Given the description of an element on the screen output the (x, y) to click on. 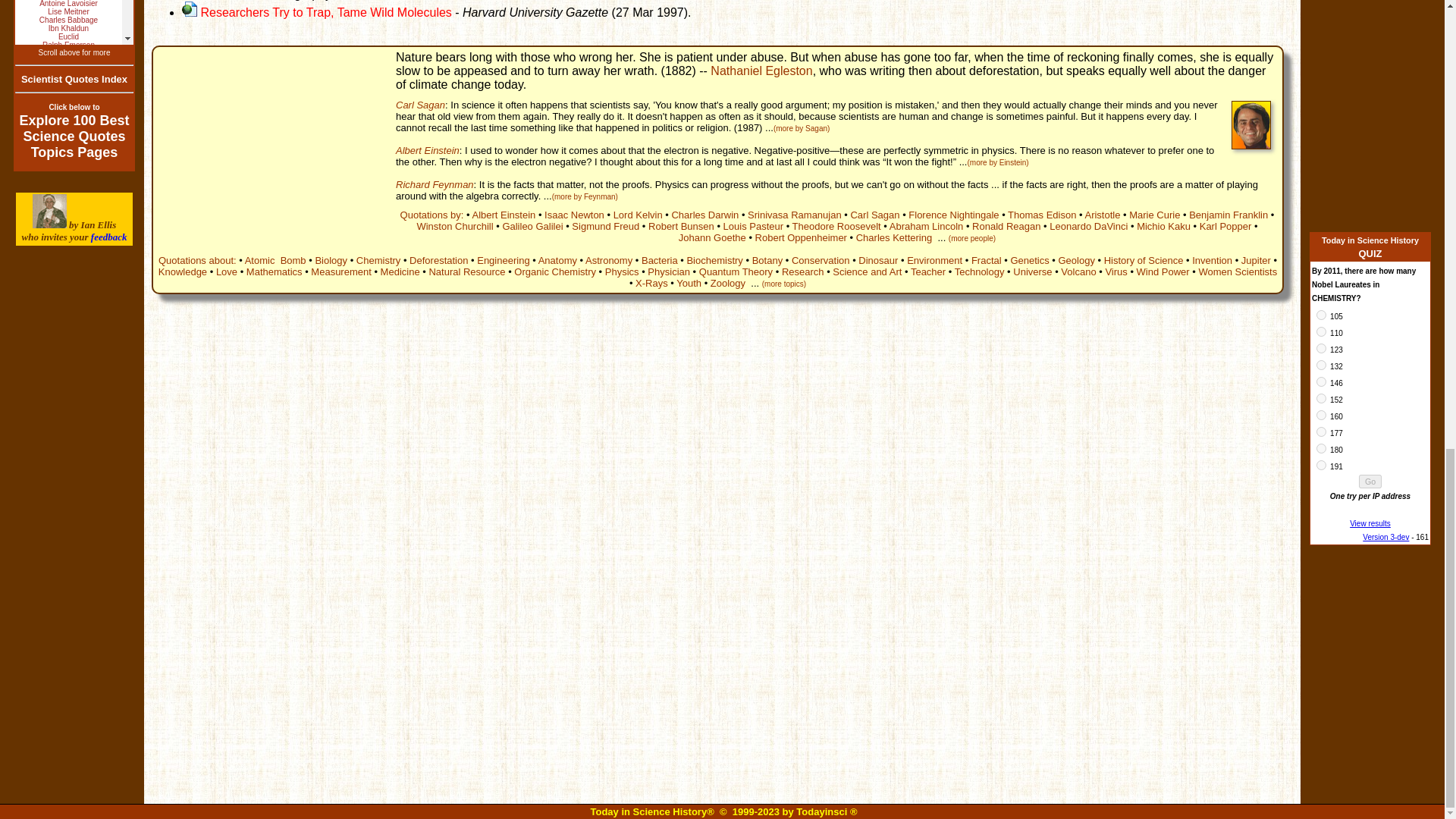
Lord Kelvin (637, 214)
Researchers Try to Trap, Tame Wild Molecules (325, 11)
Isaac Newton (574, 214)
Carl Sagan (420, 104)
Albert Einstein (503, 214)
Albert Einstein (428, 150)
Nathaniel Egleston (761, 70)
Quotations by: (432, 214)
18 Jun (208, 0)
Richard Feynman (435, 184)
